Given the description of an element on the screen output the (x, y) to click on. 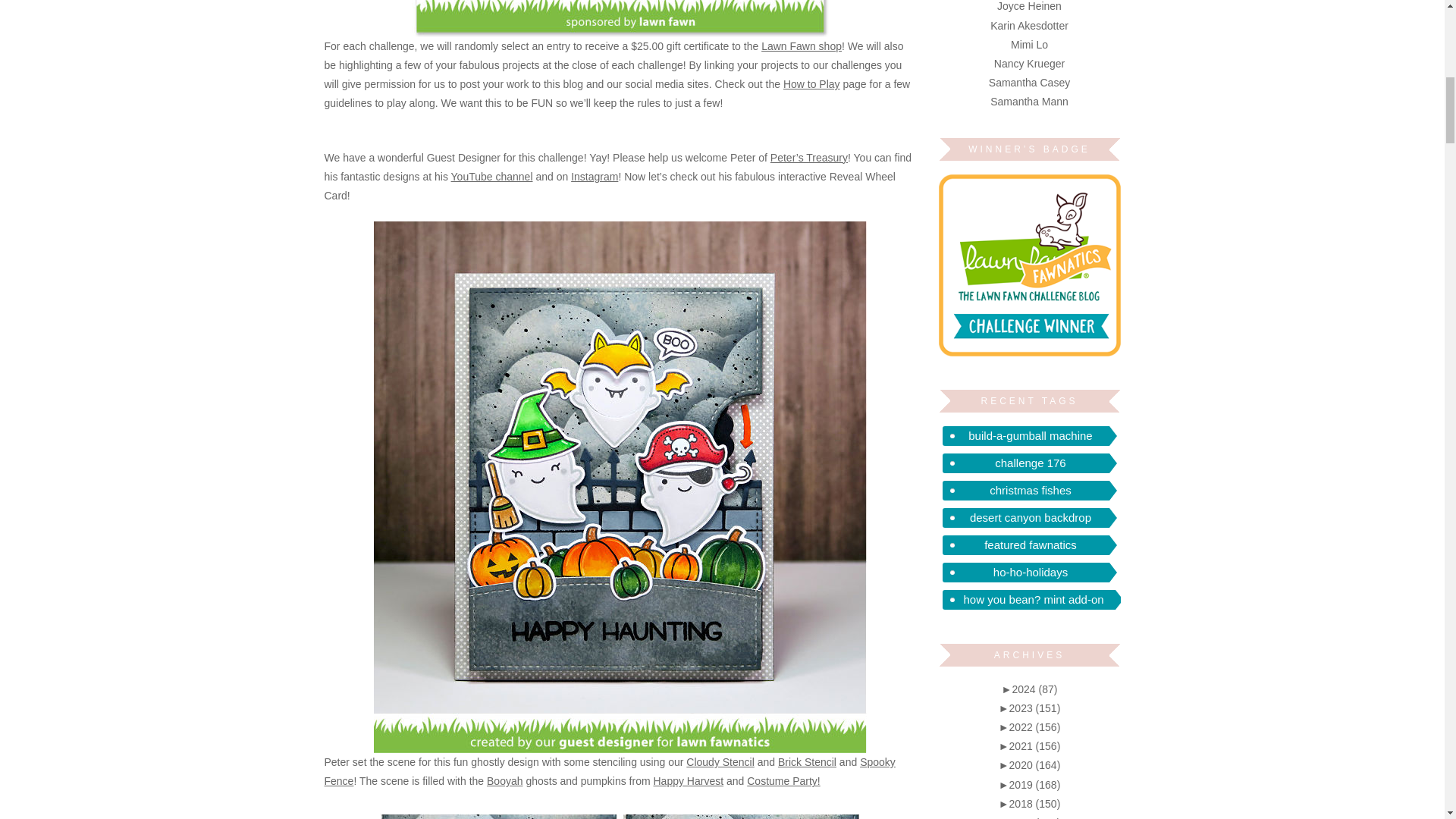
Instagram (593, 176)
Booyah (504, 780)
Cloudy Stencil (719, 761)
Lawn Fawn shop (801, 46)
click to expand (1029, 707)
Spooky Fence (609, 771)
YouTube channel (491, 176)
How to Play (811, 83)
click to expand (1029, 689)
Brick Stencil (806, 761)
Happy Harvest (688, 780)
Costume Party! (782, 780)
